Given the description of an element on the screen output the (x, y) to click on. 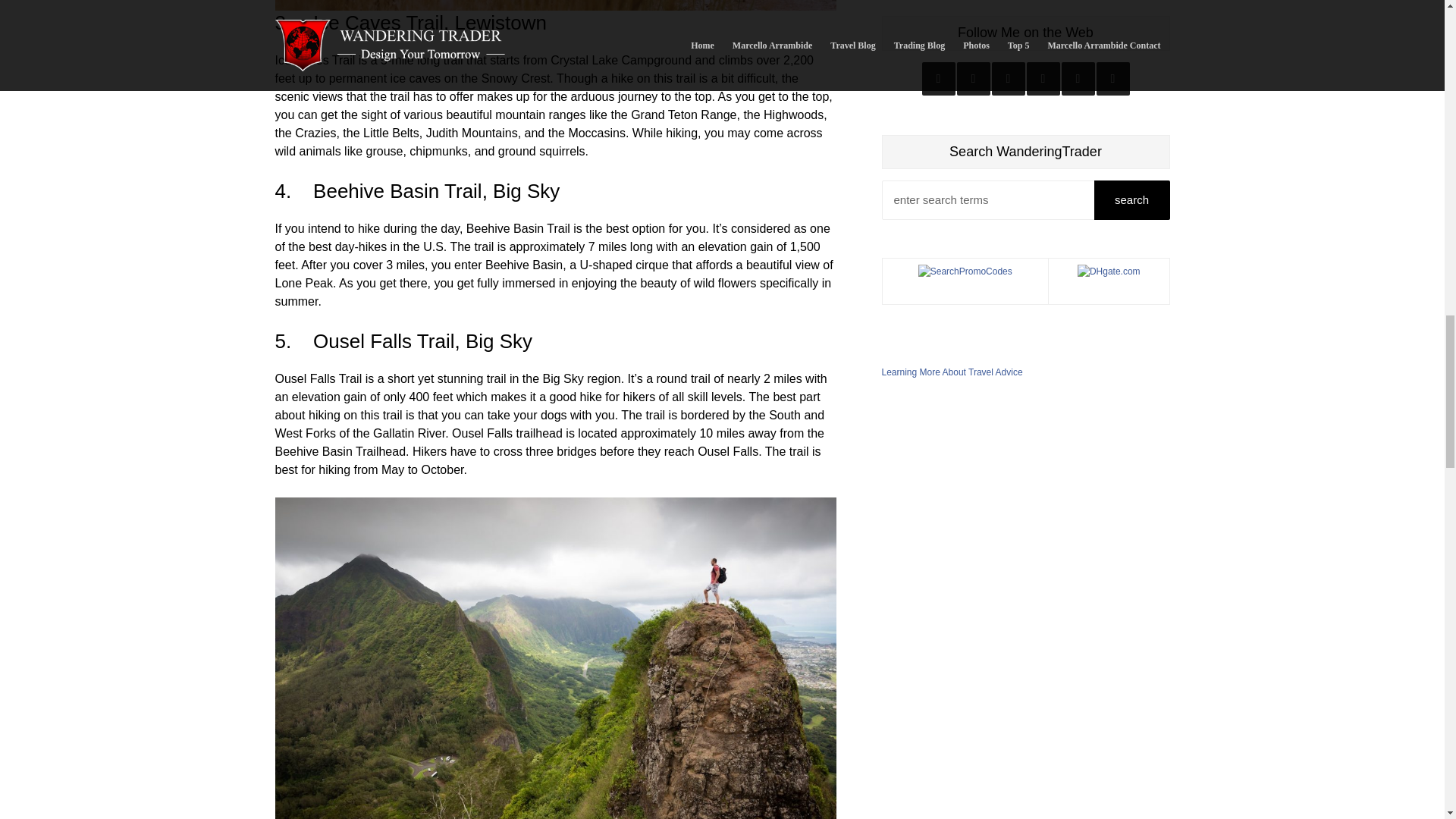
Connect on Instagram (938, 78)
Connect on Facebook (1008, 78)
Connect on Twitter (973, 78)
Learning More About Travel Advice (951, 371)
Connect on Pinterest (1112, 78)
Search (1131, 200)
Connect on Youtube (1042, 78)
Enter Search Terms (1017, 200)
Search (1131, 200)
Search (1131, 200)
